Given the description of an element on the screen output the (x, y) to click on. 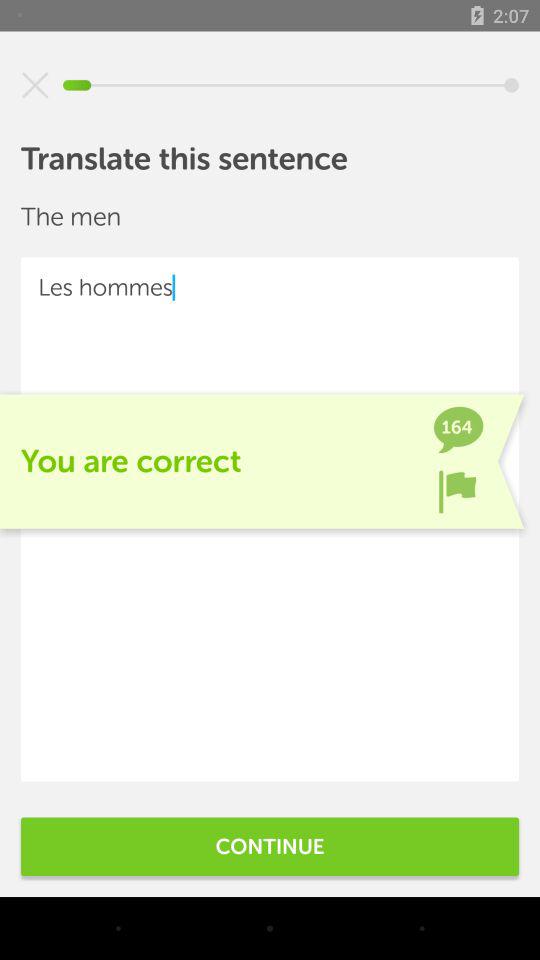
turn off icon to the right of the you are correct icon (457, 491)
